Given the description of an element on the screen output the (x, y) to click on. 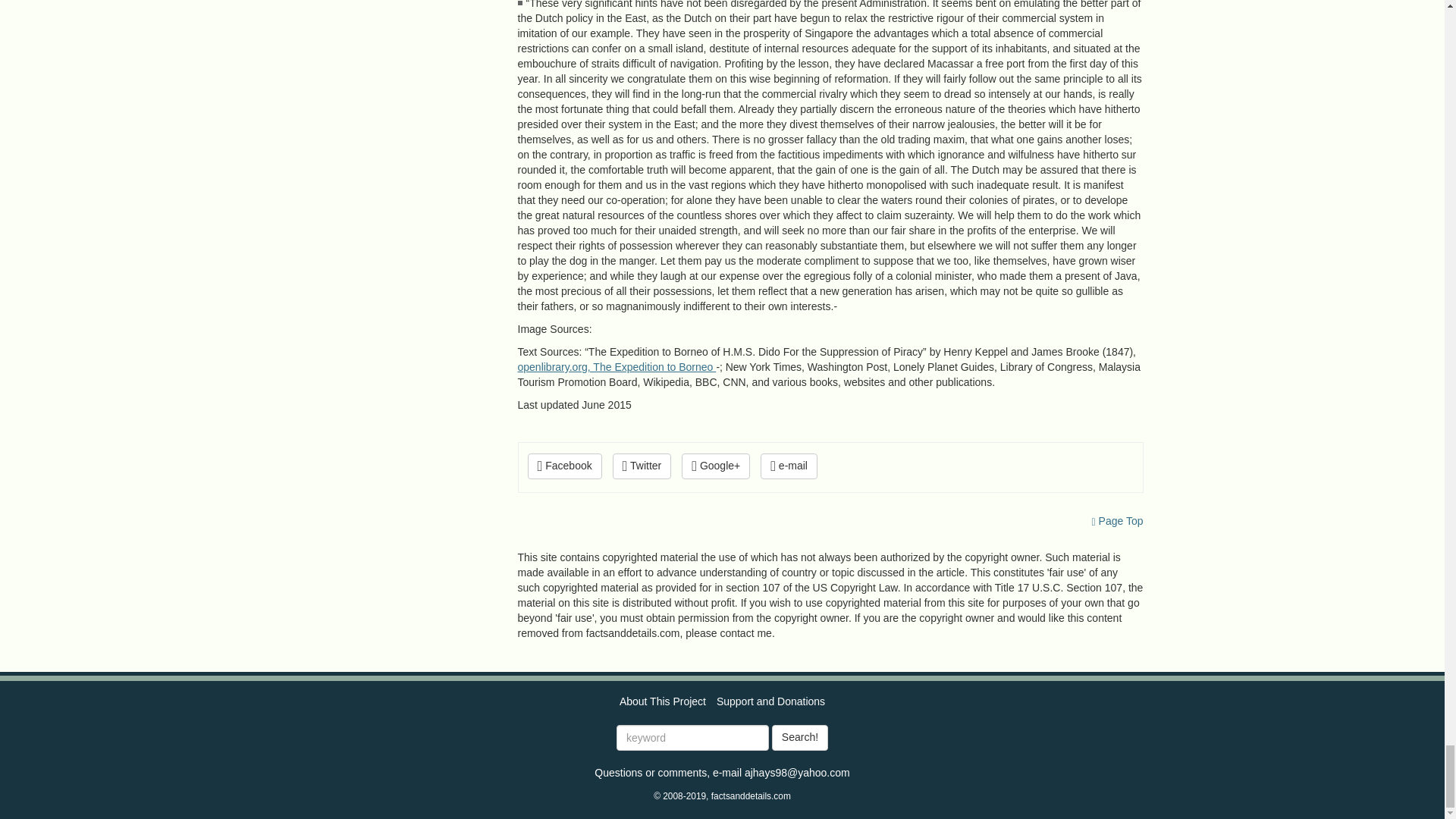
 Twitter (641, 466)
Search! (799, 737)
 Facebook (564, 466)
openlibrary.org, The Expedition to Borneo (616, 367)
About This Project (663, 701)
Support and Donations (770, 701)
 e-mail (788, 466)
 Page Top (1117, 521)
e-mail a link to this page (788, 466)
Search! (799, 737)
